Given the description of an element on the screen output the (x, y) to click on. 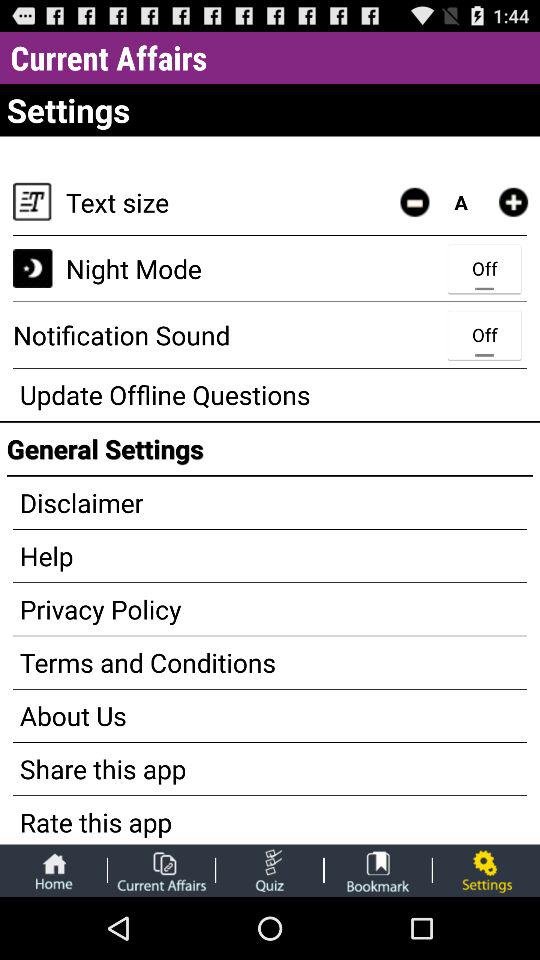
book mark (378, 870)
